Given the description of an element on the screen output the (x, y) to click on. 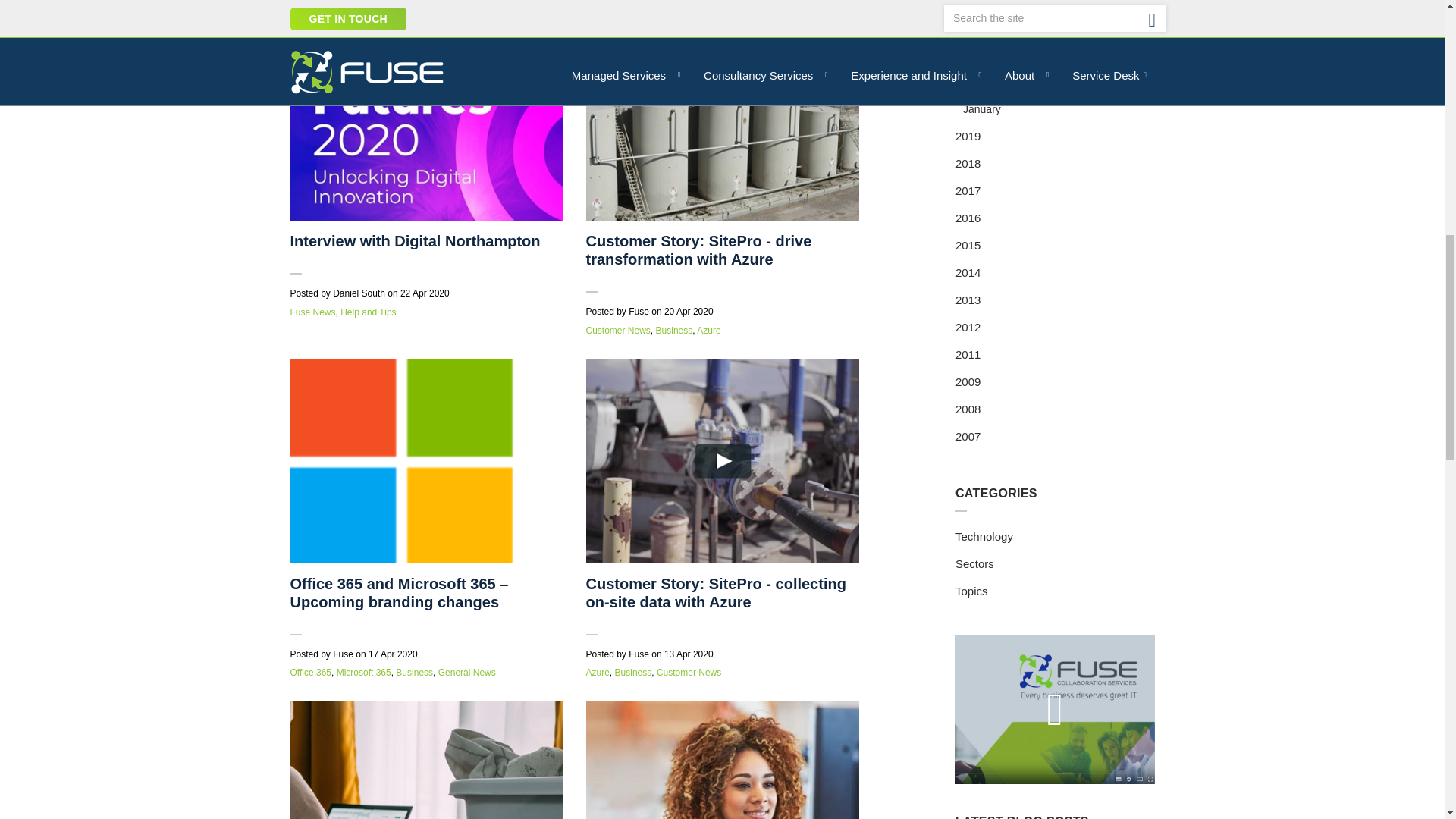
Business (674, 330)
Help and Tips (368, 312)
Customer News (617, 330)
Azure (708, 330)
Fuse News (311, 312)
